Given the description of an element on the screen output the (x, y) to click on. 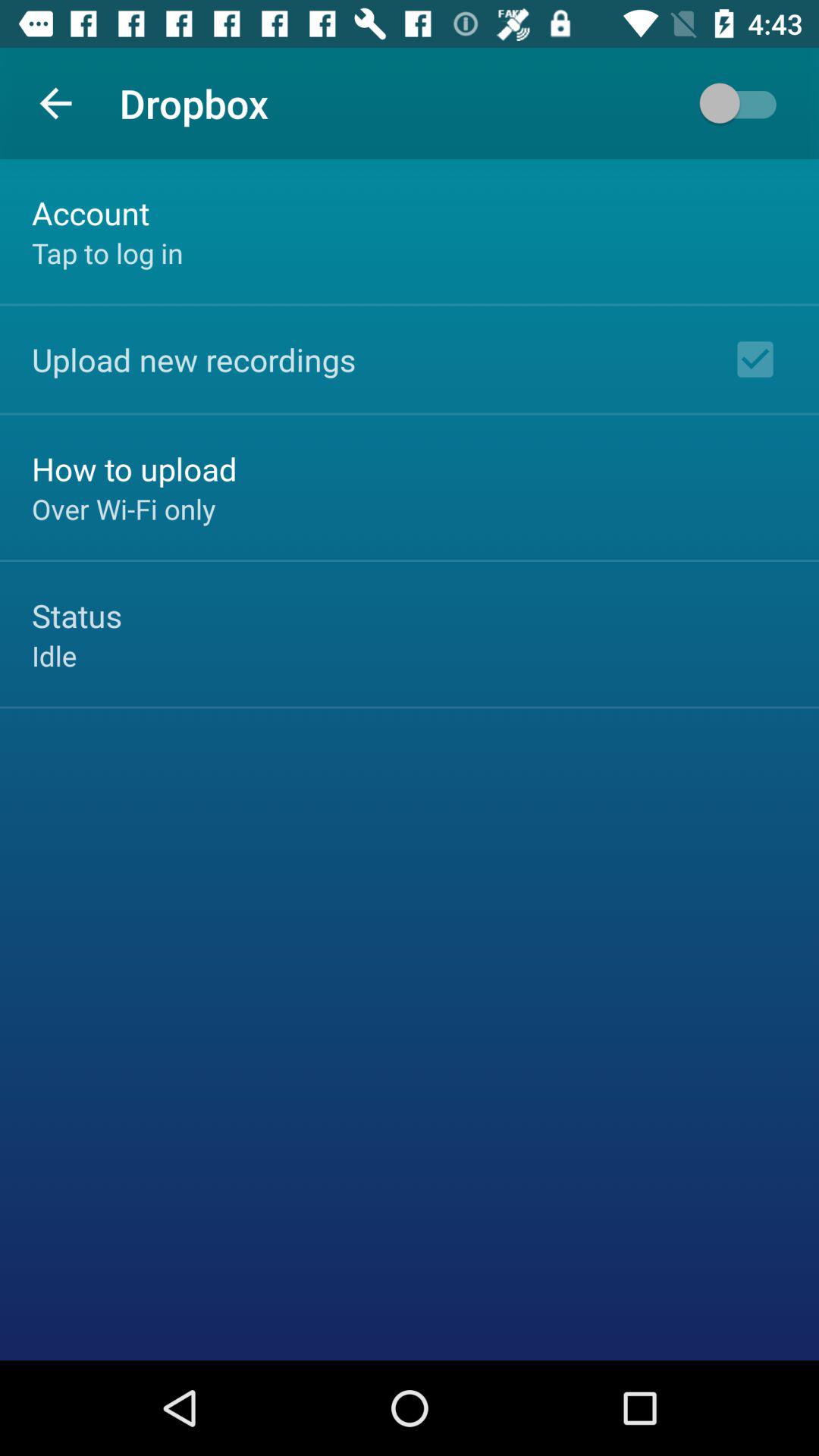
flip until the upload new recordings (193, 359)
